Given the description of an element on the screen output the (x, y) to click on. 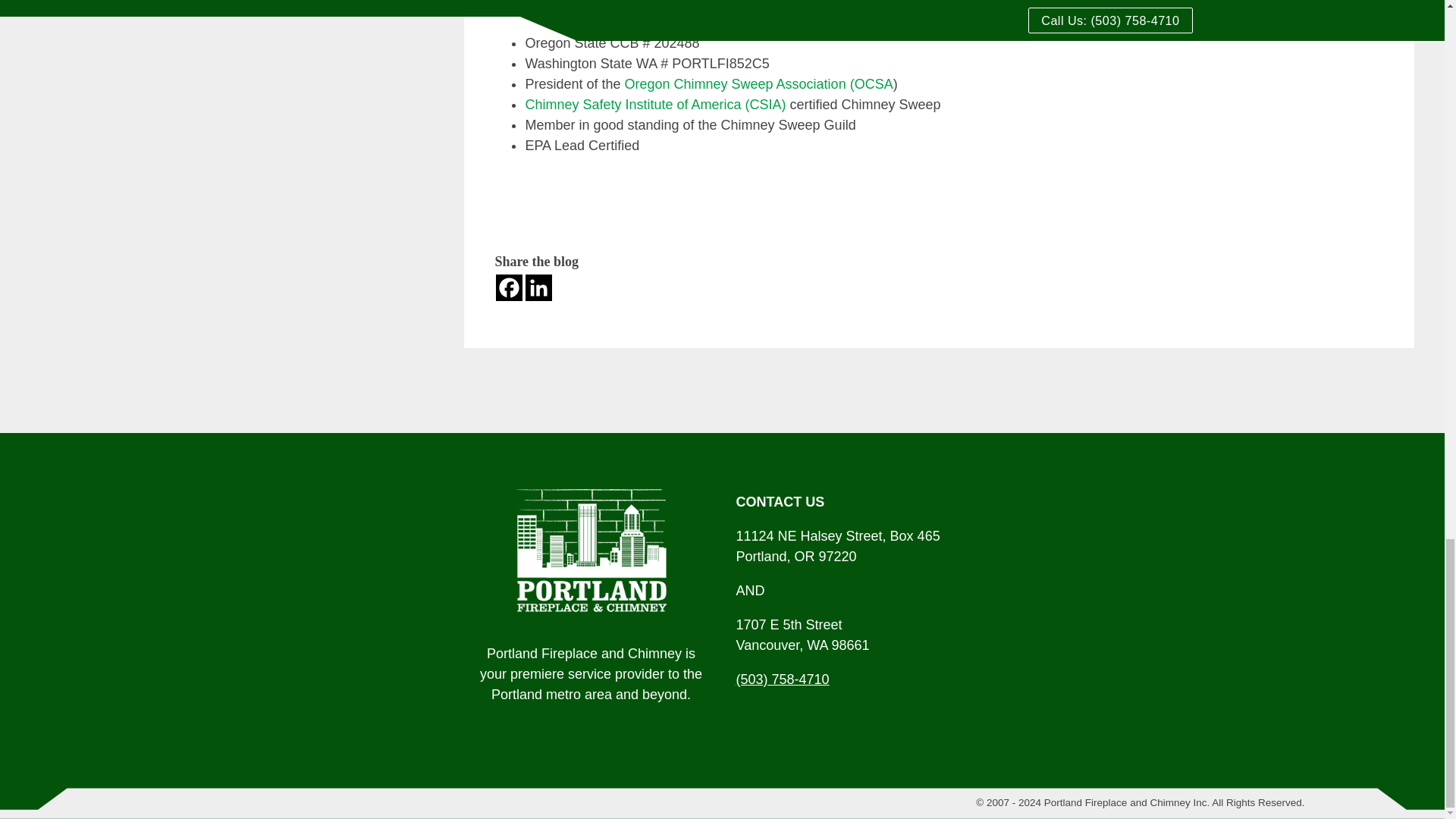
Linkedin (538, 287)
Facebook (509, 287)
